Given the description of an element on the screen output the (x, y) to click on. 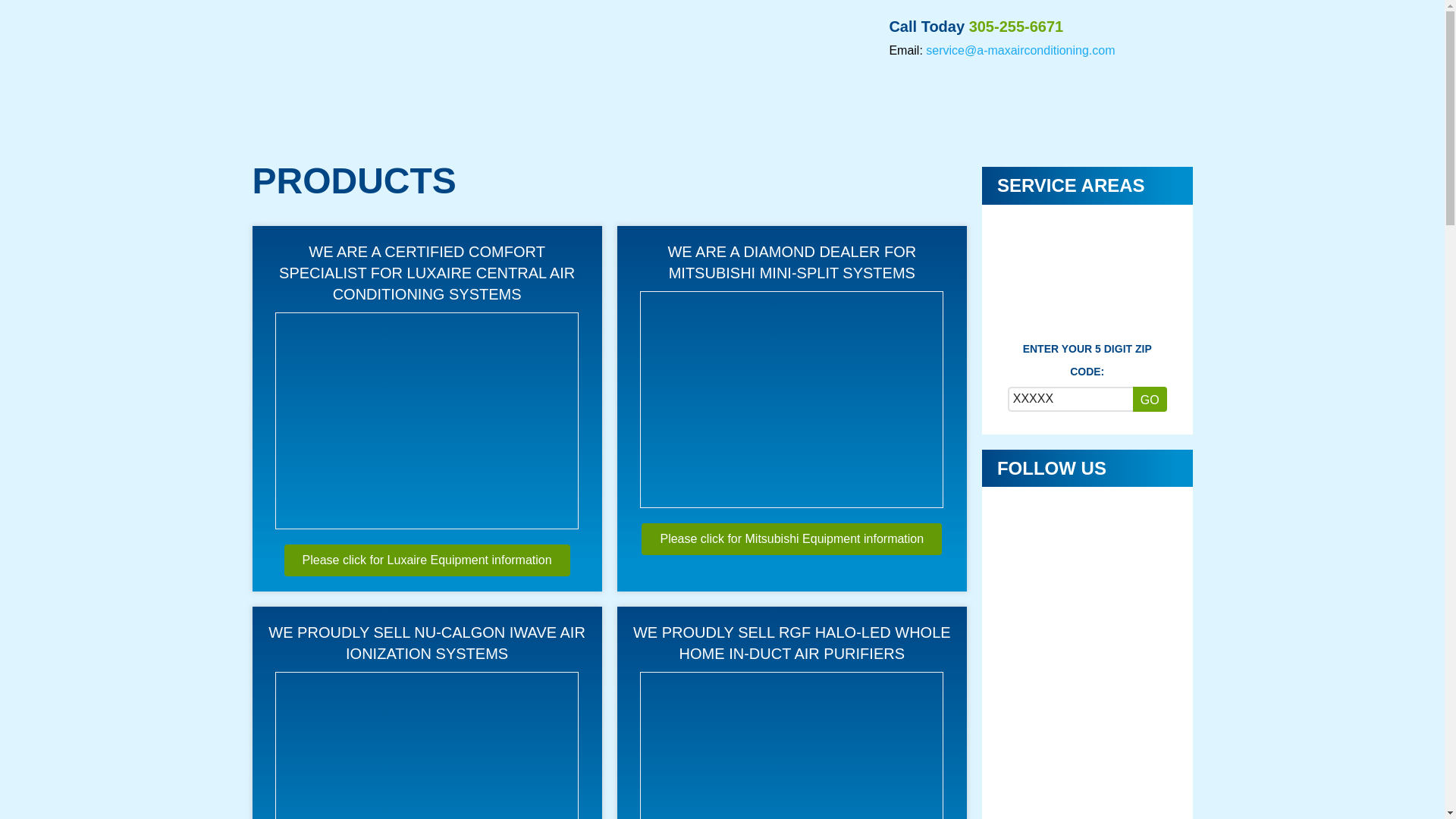
Please click for Luxaire Equipment information (426, 560)
A-Max-logo-1.png (418, 71)
Halo-Led (791, 745)
Please click for Mitsubishi Equipment information (792, 539)
305-255-6671 (1016, 26)
Mitsubishi-Electric (791, 399)
Enter a 5 Digit Zip Code (1069, 398)
GO (1149, 398)
Luxaire (426, 420)
GO (1149, 398)
iWave-Air-Ionization (426, 745)
